Given the description of an element on the screen output the (x, y) to click on. 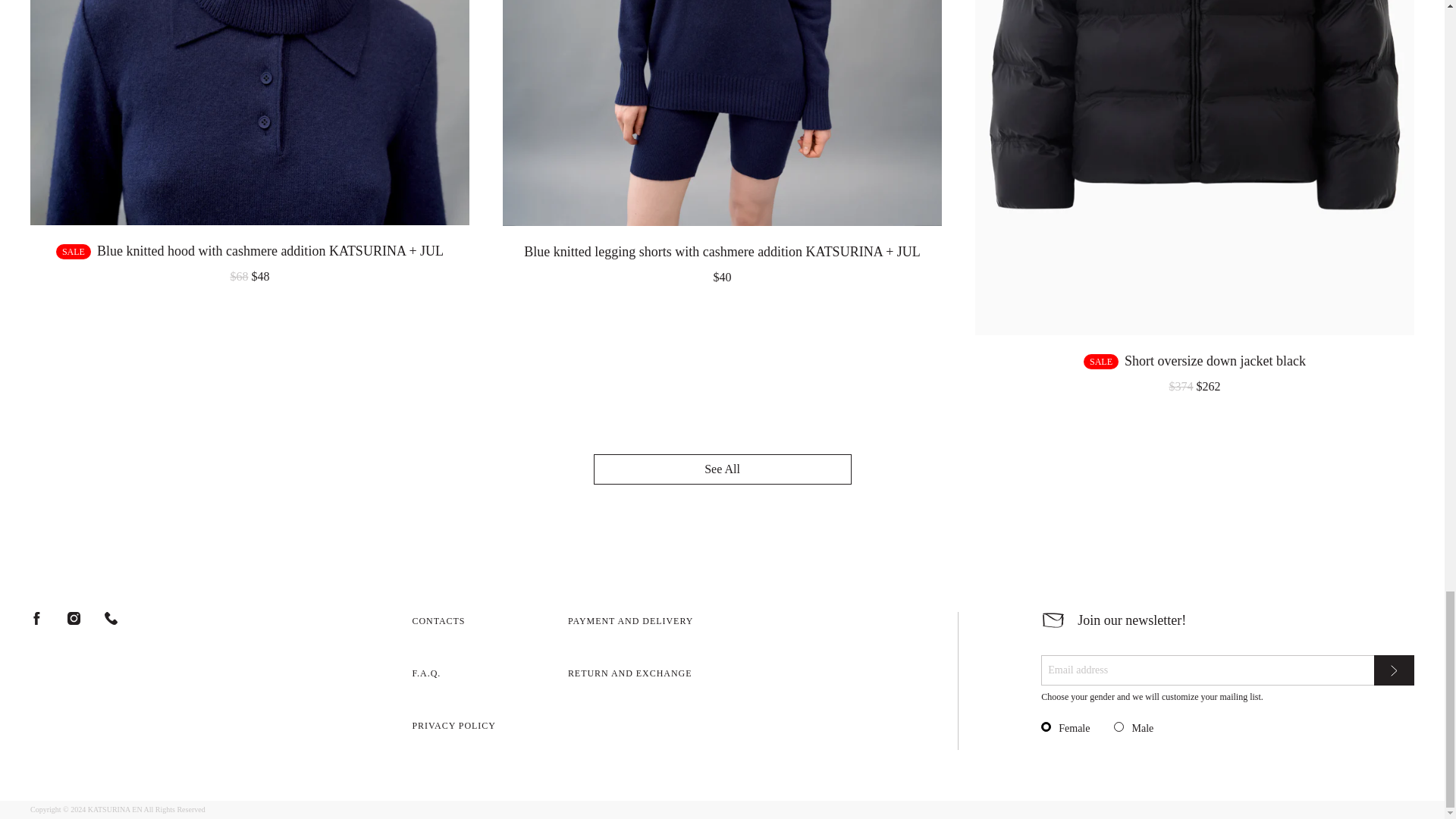
KATSURINA EN on Phone (110, 617)
KATSURINA EN on Facebook (36, 617)
KATSURINA EN on Instagram (73, 617)
